Given the description of an element on the screen output the (x, y) to click on. 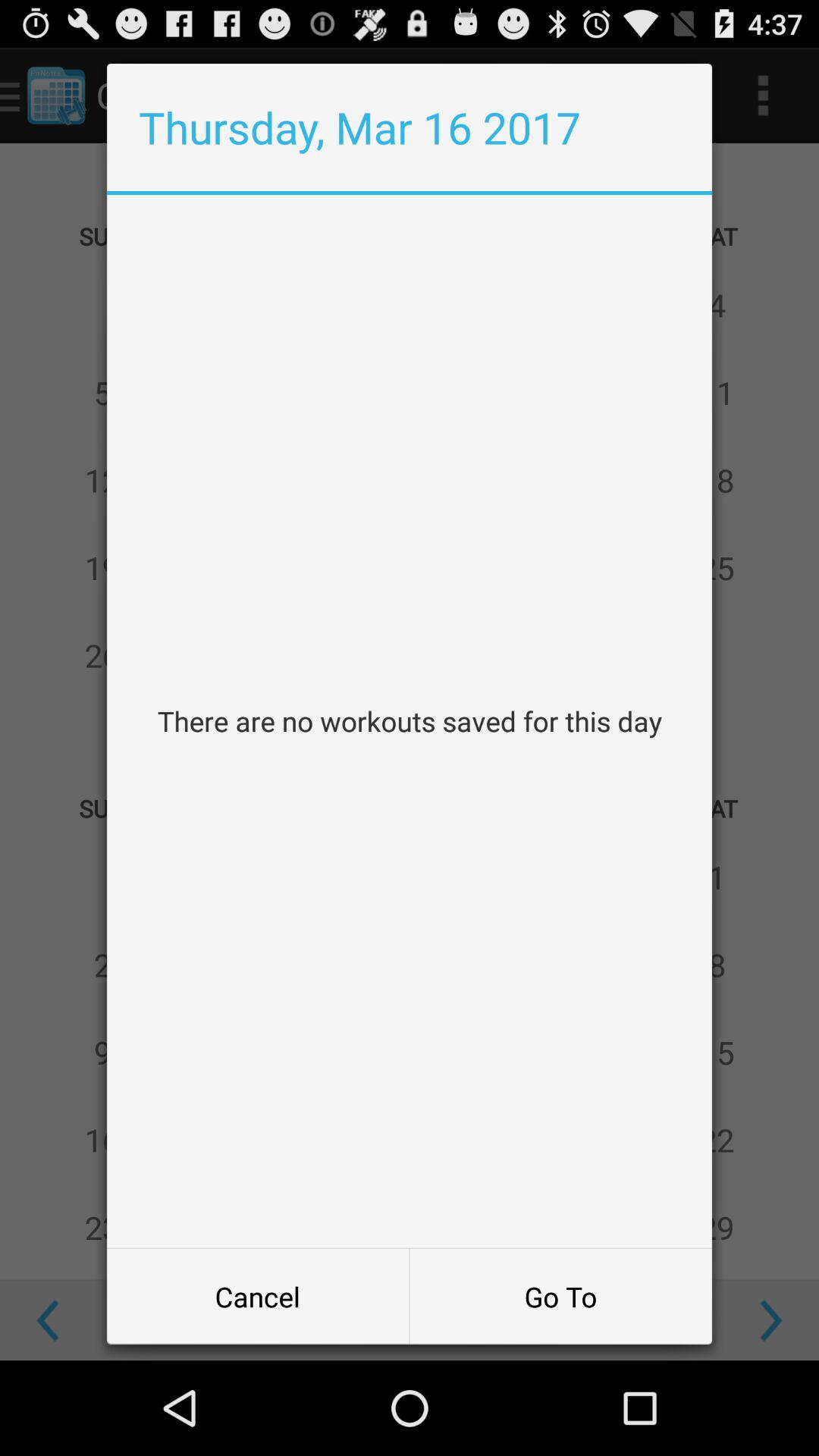
launch icon next to the go to (257, 1296)
